Given the description of an element on the screen output the (x, y) to click on. 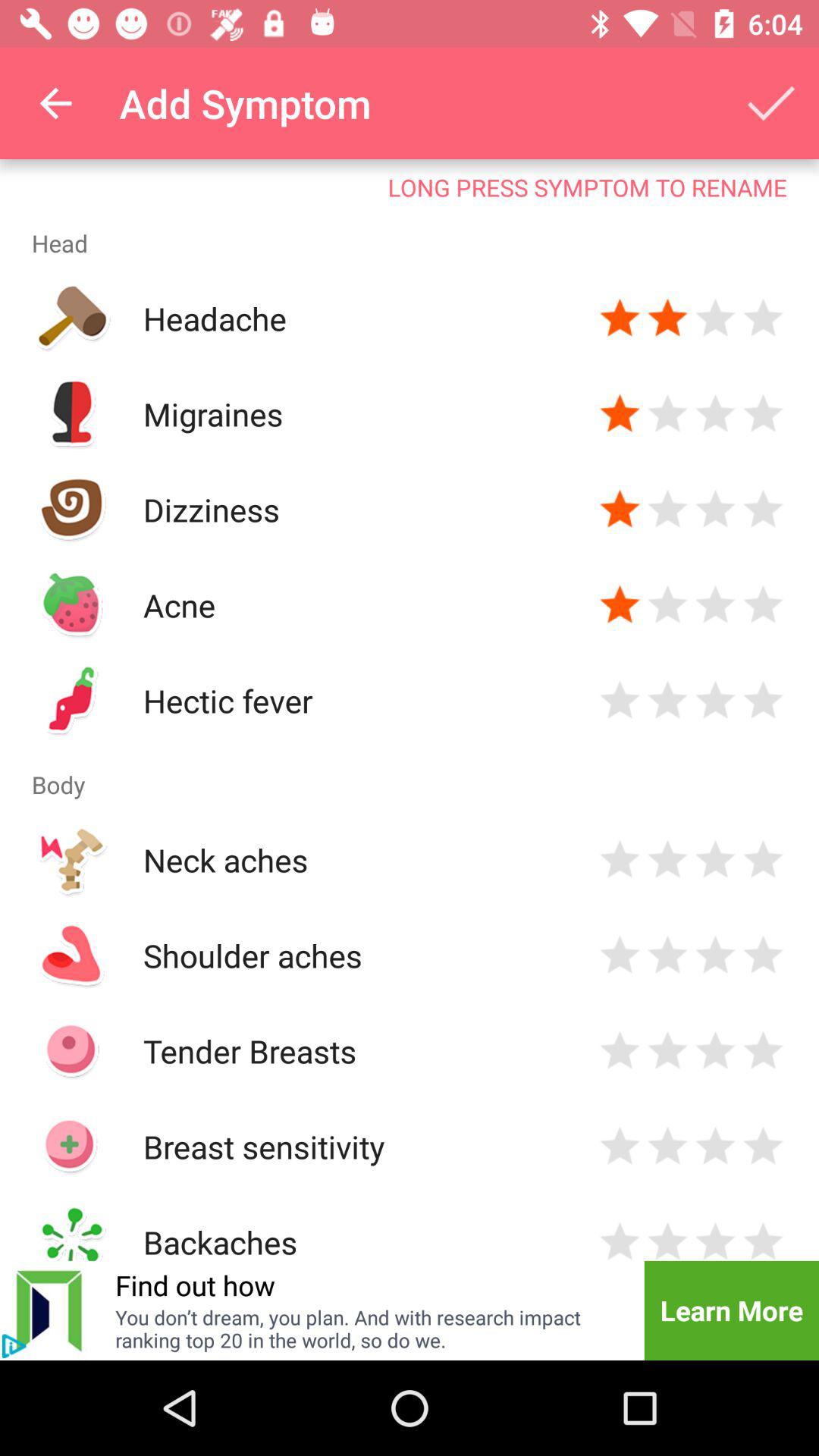
rate (715, 413)
